Given the description of an element on the screen output the (x, y) to click on. 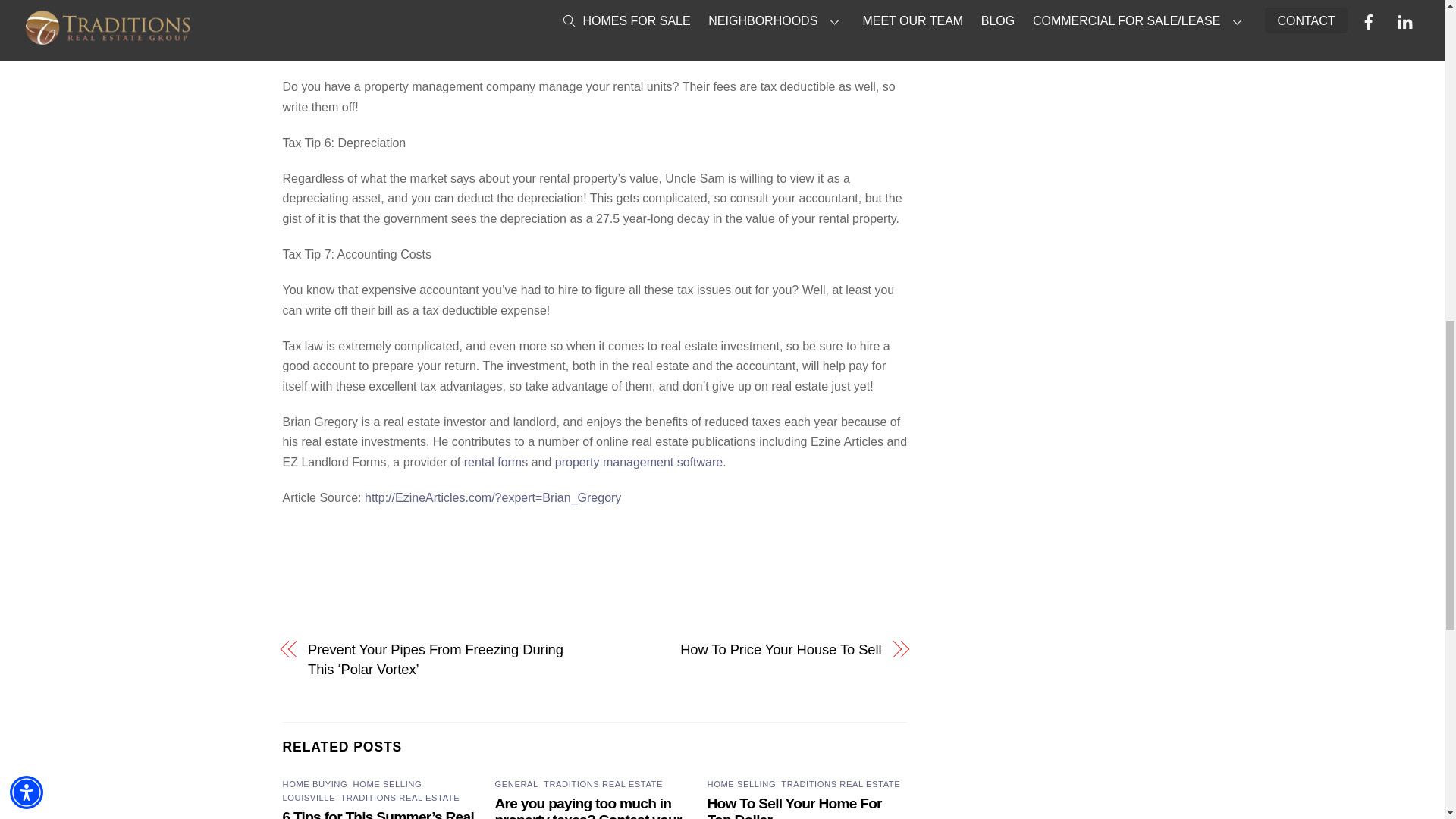
TRADITIONS REAL ESTATE (602, 783)
GENERAL (516, 783)
HOME SELLING (741, 783)
How To Price Your House To Sell (746, 649)
LOUISVILLE (308, 797)
HOME BUYING (314, 783)
rental forms (495, 461)
HOME SELLING (387, 783)
TRADITIONS REAL ESTATE (839, 783)
property management software (638, 461)
